Given the description of an element on the screen output the (x, y) to click on. 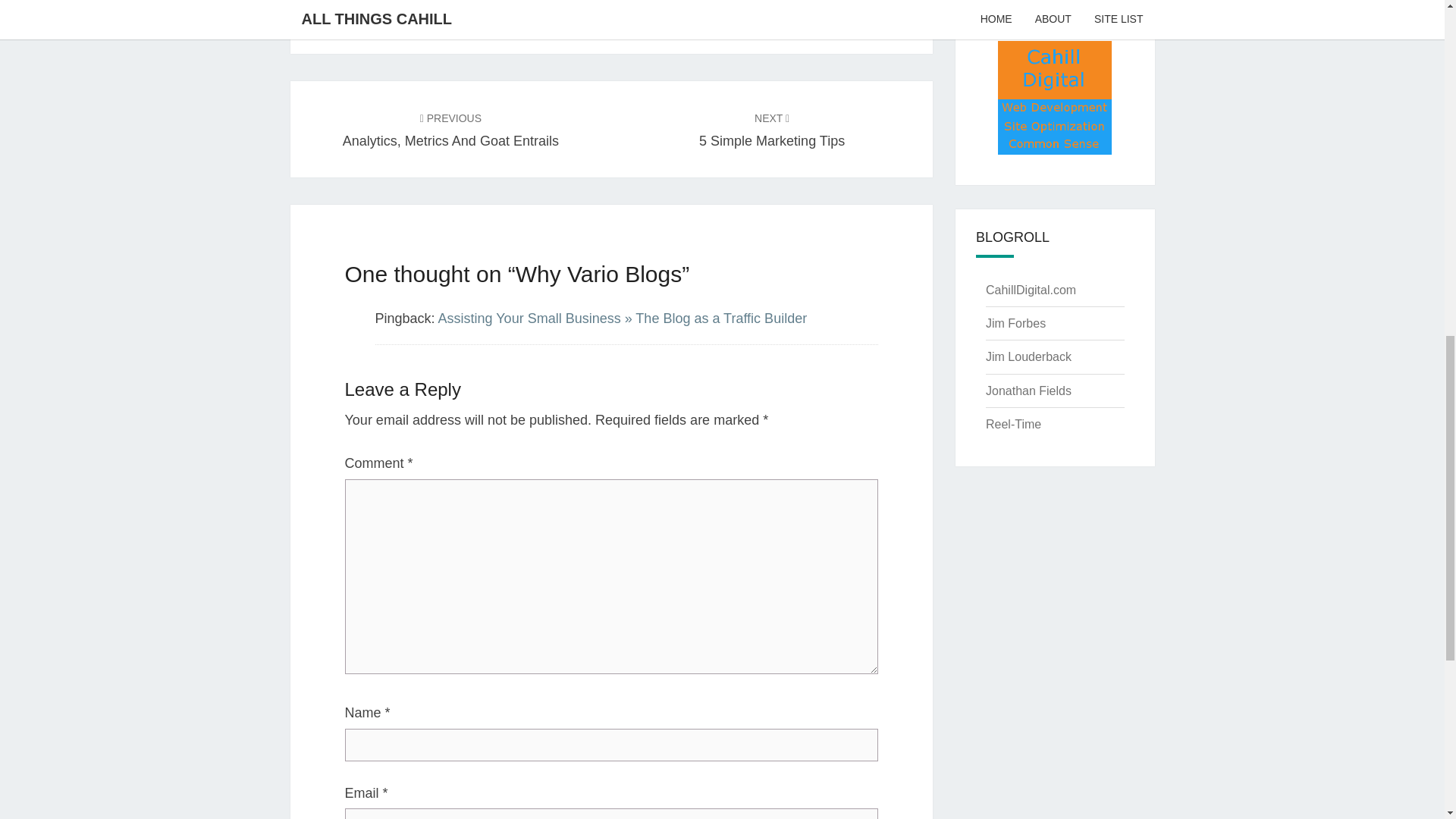
CahillDigital.com (450, 128)
Personal (771, 128)
Jonathan Fields (1030, 289)
Jim Louderback (382, 7)
The Internet Journal of Saltwater Fly Fishing (1028, 390)
Forbes On Tech (1028, 356)
Reel-Time (1013, 423)
Jim Forbes (1015, 323)
